Given the description of an element on the screen output the (x, y) to click on. 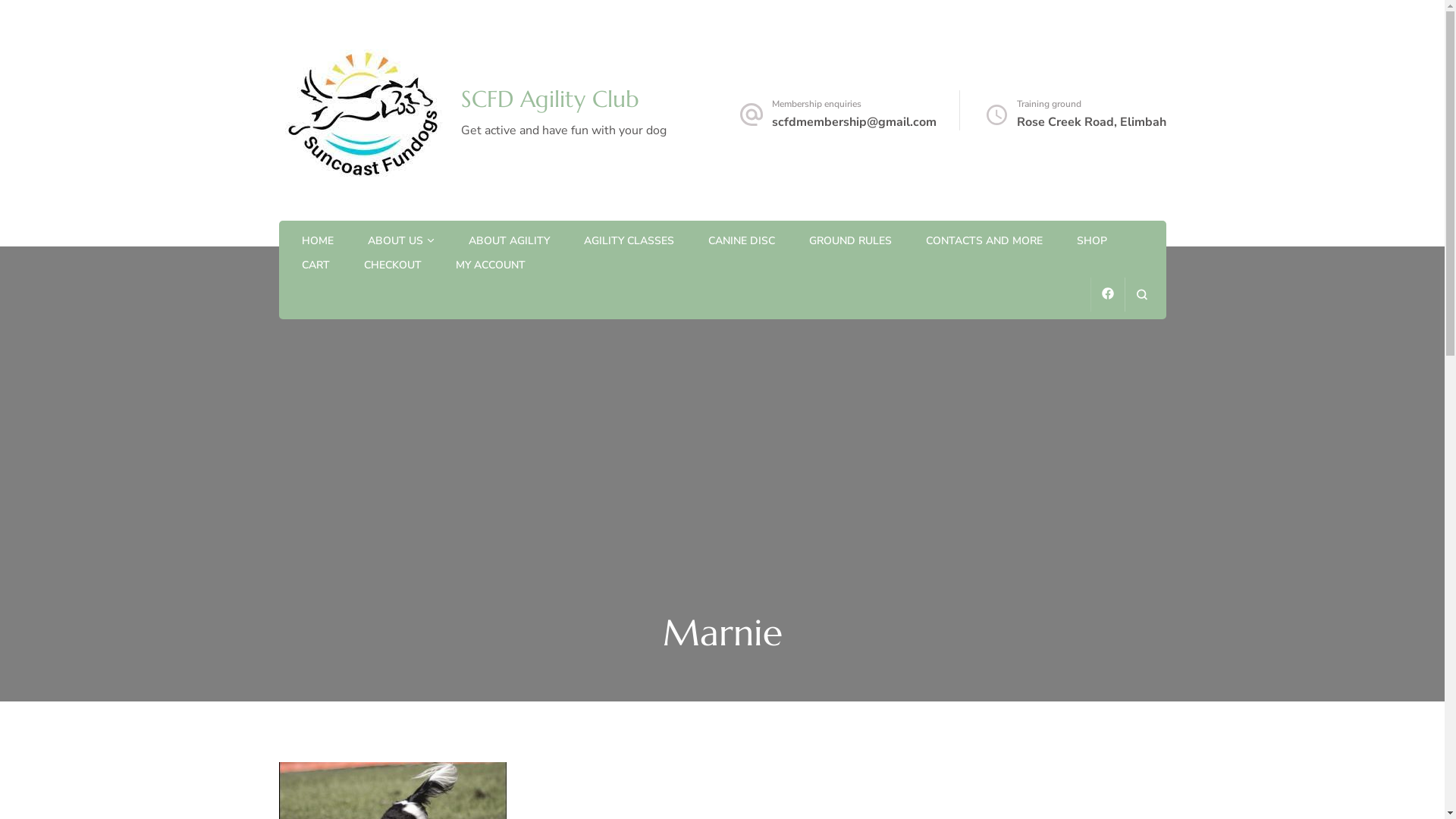
CHECKOUT Element type: text (392, 265)
GROUND RULES Element type: text (849, 241)
SCFD Agility Club Element type: text (550, 98)
ABOUT AGILITY Element type: text (508, 241)
scfdmembership@gmail.com Element type: text (853, 121)
CANINE DISC Element type: text (741, 241)
ABOUT US Element type: text (394, 241)
HOME Element type: text (317, 241)
AGILITY CLASSES Element type: text (628, 241)
SHOP Element type: text (1091, 241)
CONTACTS AND MORE Element type: text (983, 241)
MY ACCOUNT Element type: text (489, 265)
CART Element type: text (315, 265)
